Given the description of an element on the screen output the (x, y) to click on. 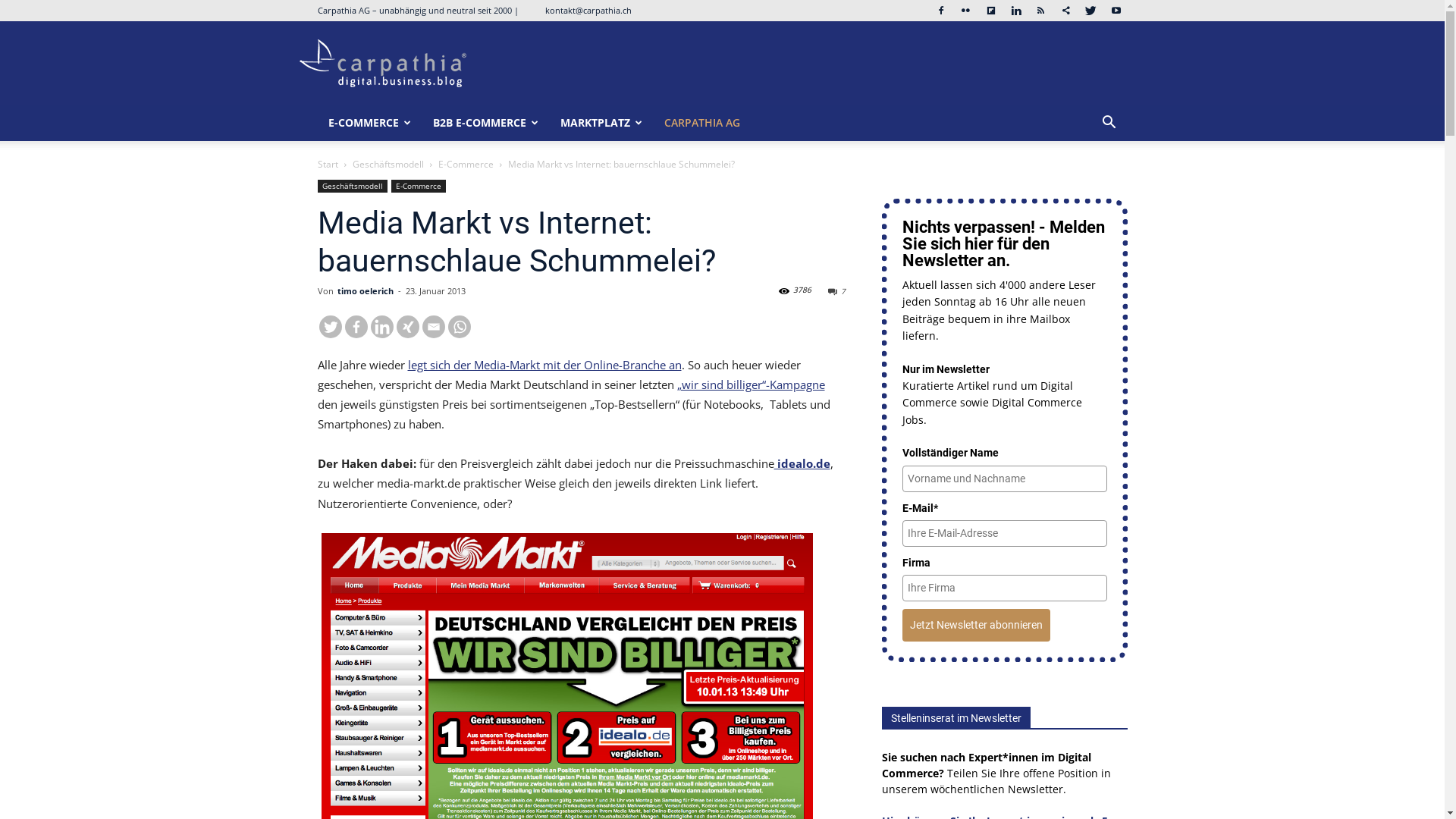
Flipboard Element type: hover (990, 10)
idealo.de Element type: text (801, 462)
xing Element type: hover (406, 326)
Linkedin Element type: hover (1015, 10)
E-Commerce Element type: text (418, 185)
7 Element type: text (836, 290)
timo oelerich Element type: text (364, 290)
B2B E-COMMERCE Element type: text (485, 122)
Share Element type: hover (1065, 10)
Jetzt Newsletter abonnieren Element type: text (976, 624)
kontakt@carpathia.ch Element type: text (586, 9)
Twitter Element type: hover (329, 326)
Linkedin Element type: hover (381, 326)
Whatsapp Element type: hover (458, 326)
Suche Element type: text (1086, 183)
legt sich der Media-Markt mit der Online-Branche an Element type: text (544, 364)
E-COMMERCE Element type: text (368, 122)
Youtube Element type: hover (1115, 10)
RSS Element type: hover (1040, 10)
Facebook Element type: hover (355, 326)
Flickr Element type: hover (964, 10)
Carpathia Logo Element type: hover (381, 63)
Start Element type: text (326, 163)
Twitter Element type: hover (1090, 10)
CARPATHIA AG Element type: text (701, 122)
Facebook Element type: hover (940, 10)
Email Element type: hover (432, 326)
MARKTPLATZ Element type: text (600, 122)
E-Commerce Element type: text (465, 163)
